Given the description of an element on the screen output the (x, y) to click on. 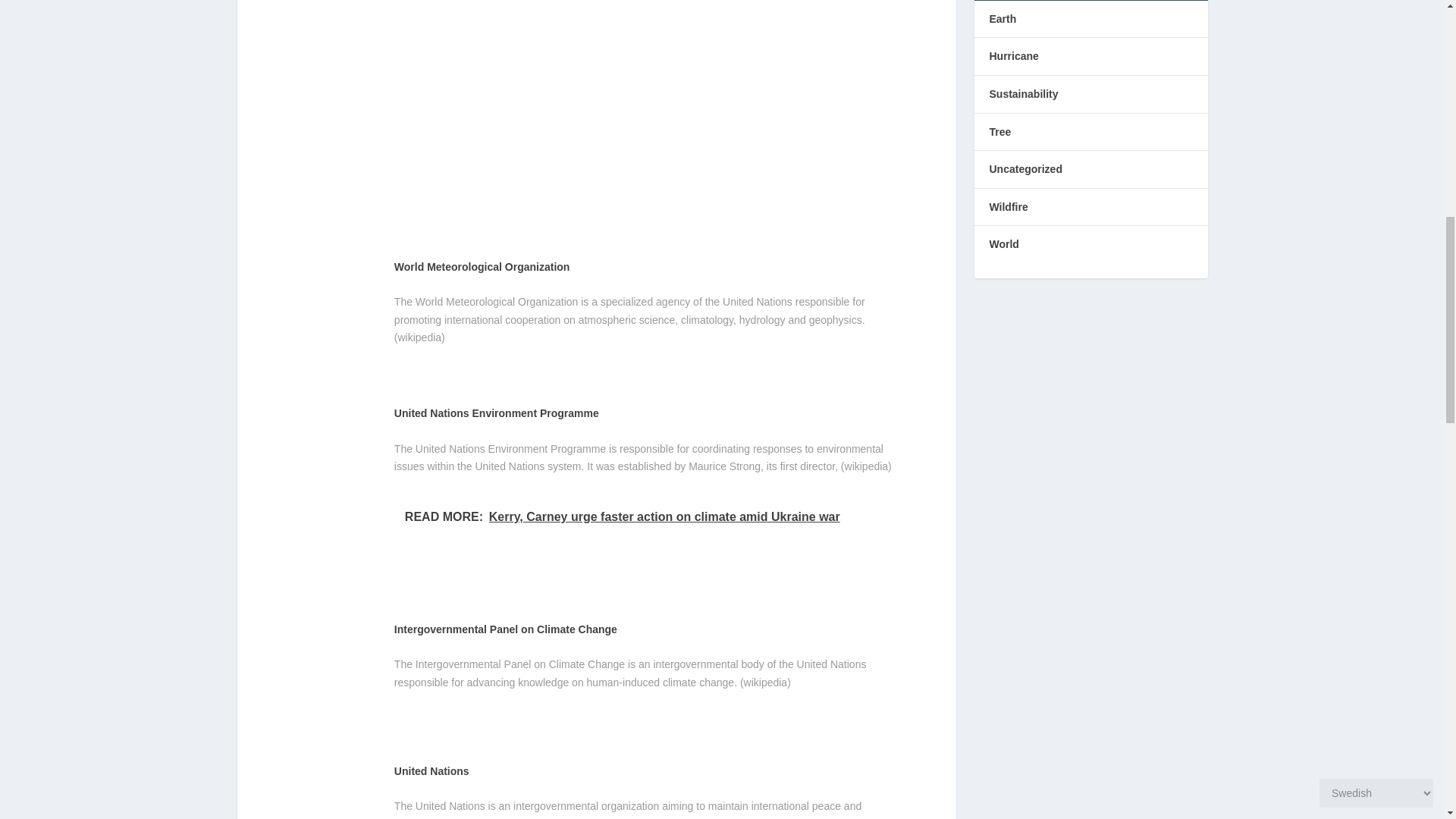
World Meteorological Organization (482, 266)
United Nations Environment Programme (496, 413)
